Given the description of an element on the screen output the (x, y) to click on. 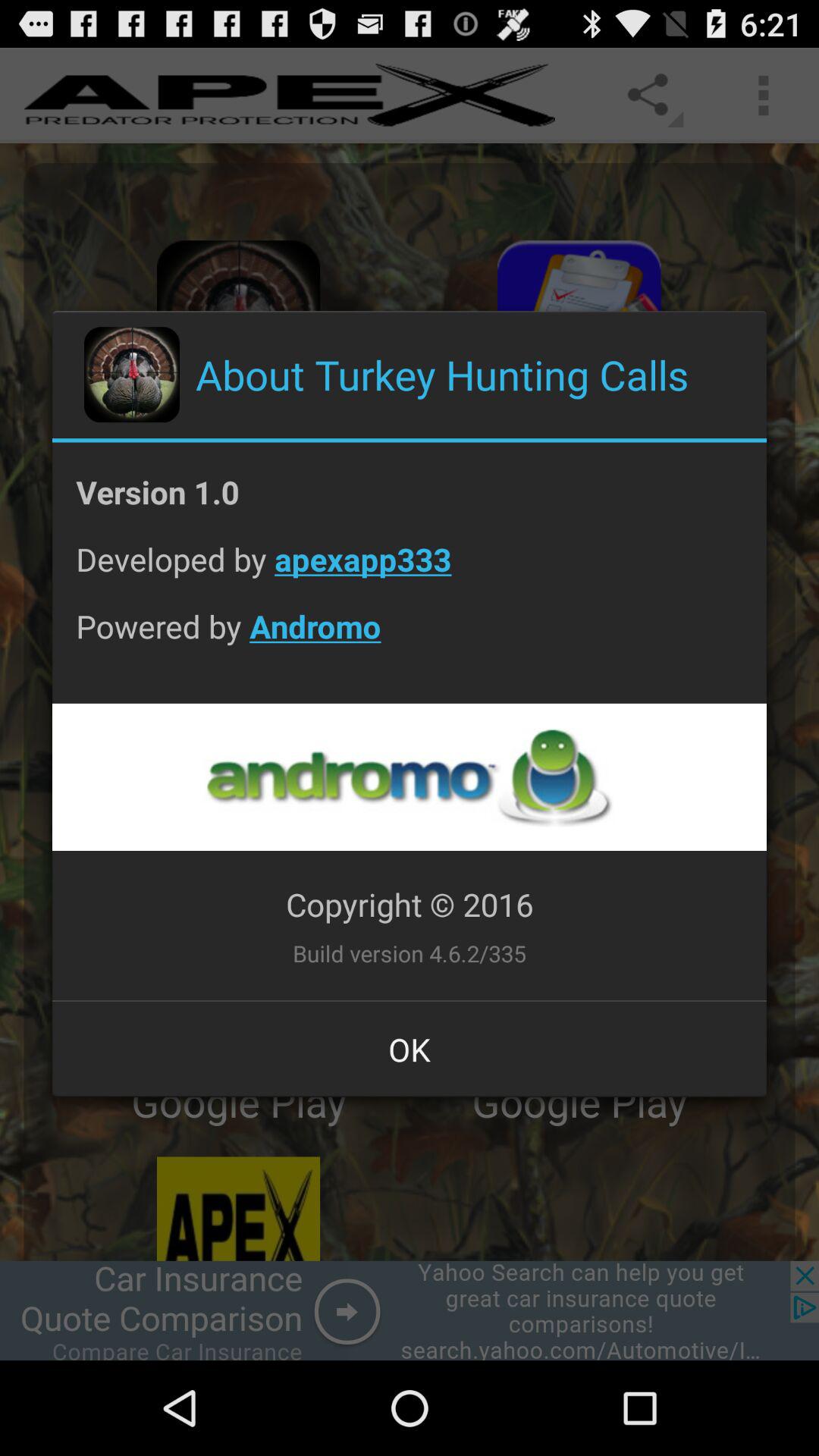
tap the icon below the version 1.0 app (409, 570)
